Given the description of an element on the screen output the (x, y) to click on. 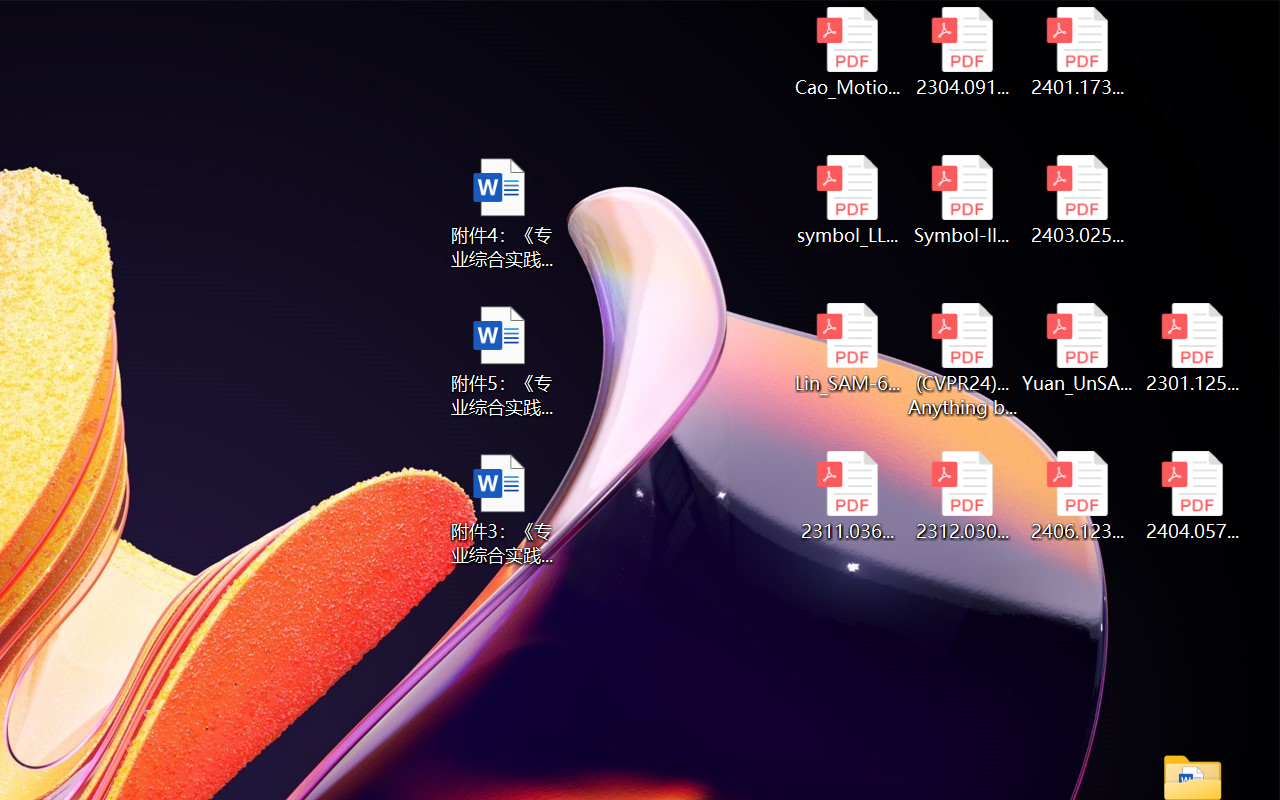
2304.09121v3.pdf (962, 52)
2401.17399v1.pdf (1077, 52)
2311.03658v2.pdf (846, 496)
symbol_LLM.pdf (846, 200)
2404.05719v1.pdf (1192, 496)
2406.12373v2.pdf (1077, 496)
(CVPR24)Matching Anything by Segmenting Anything.pdf (962, 360)
2403.02502v1.pdf (1077, 200)
2301.12597v3.pdf (1192, 348)
